Given the description of an element on the screen output the (x, y) to click on. 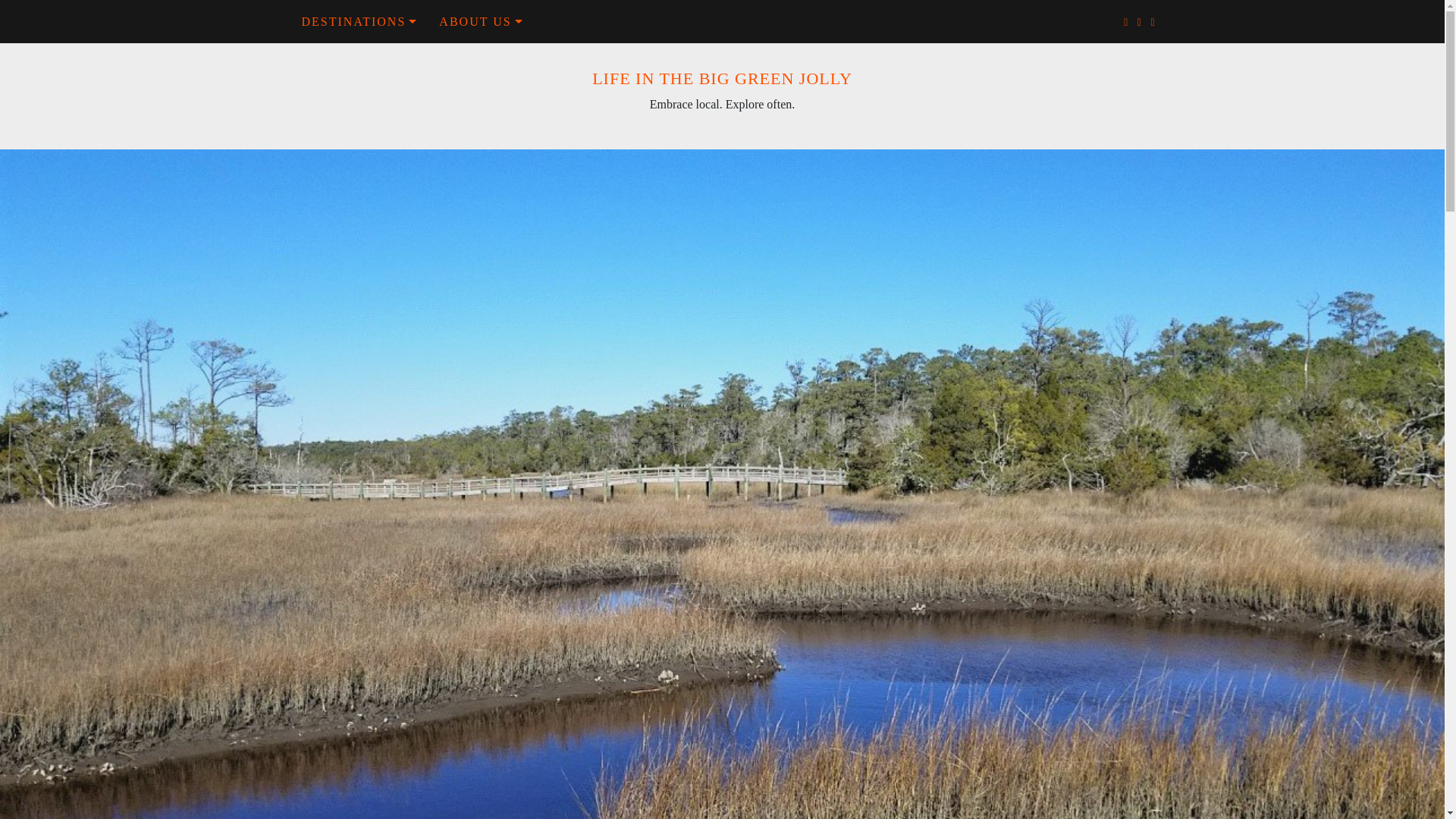
LIFE IN THE BIG GREEN JOLLY (721, 77)
ABOUT US (480, 21)
DESTINATIONS (358, 21)
